Given the description of an element on the screen output the (x, y) to click on. 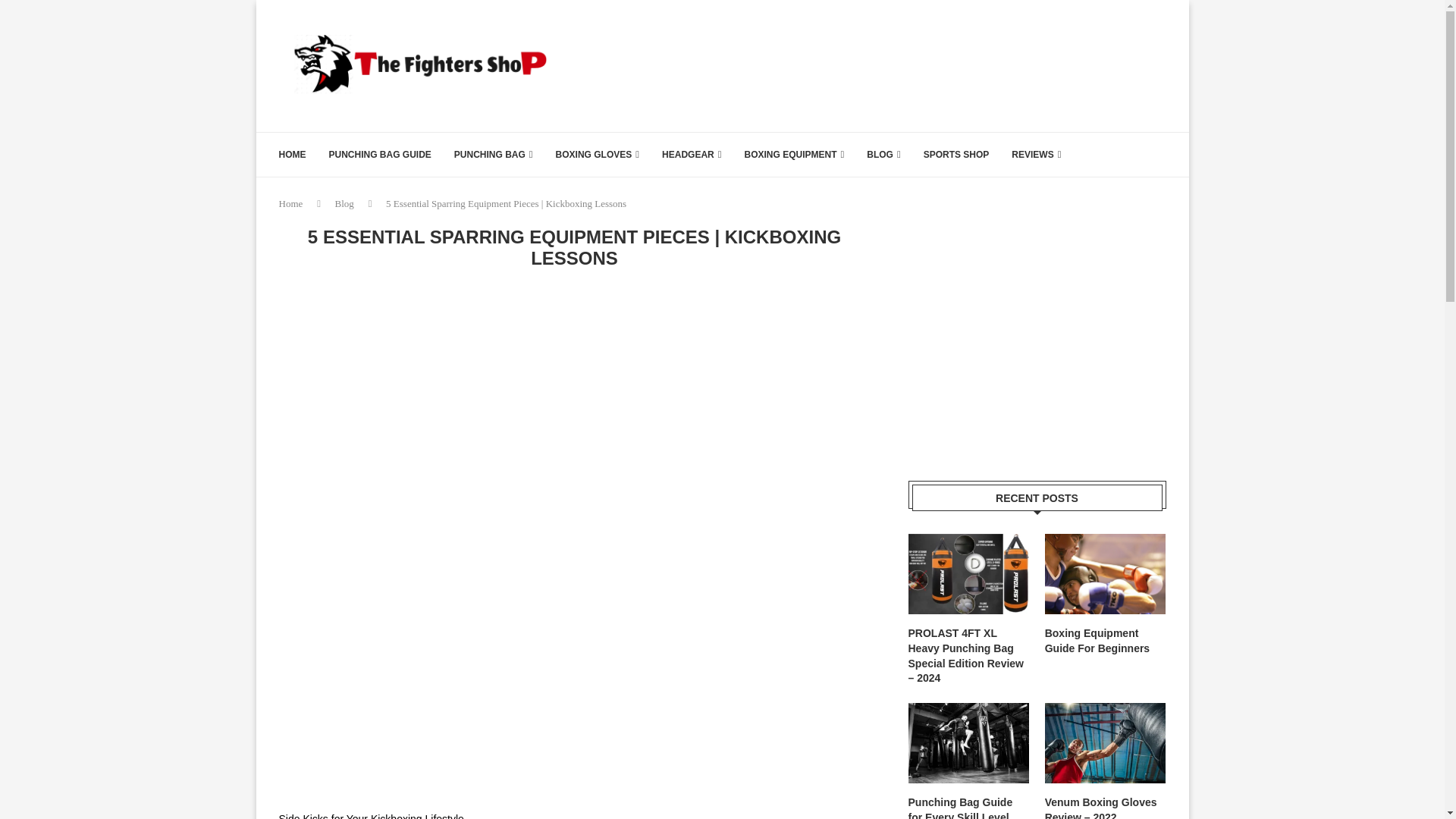
PUNCHING BAG GUIDE (379, 154)
HOME (292, 154)
PUNCHING BAG (493, 154)
Advertisement (890, 64)
BOXING GLOVES (597, 154)
